Given the description of an element on the screen output the (x, y) to click on. 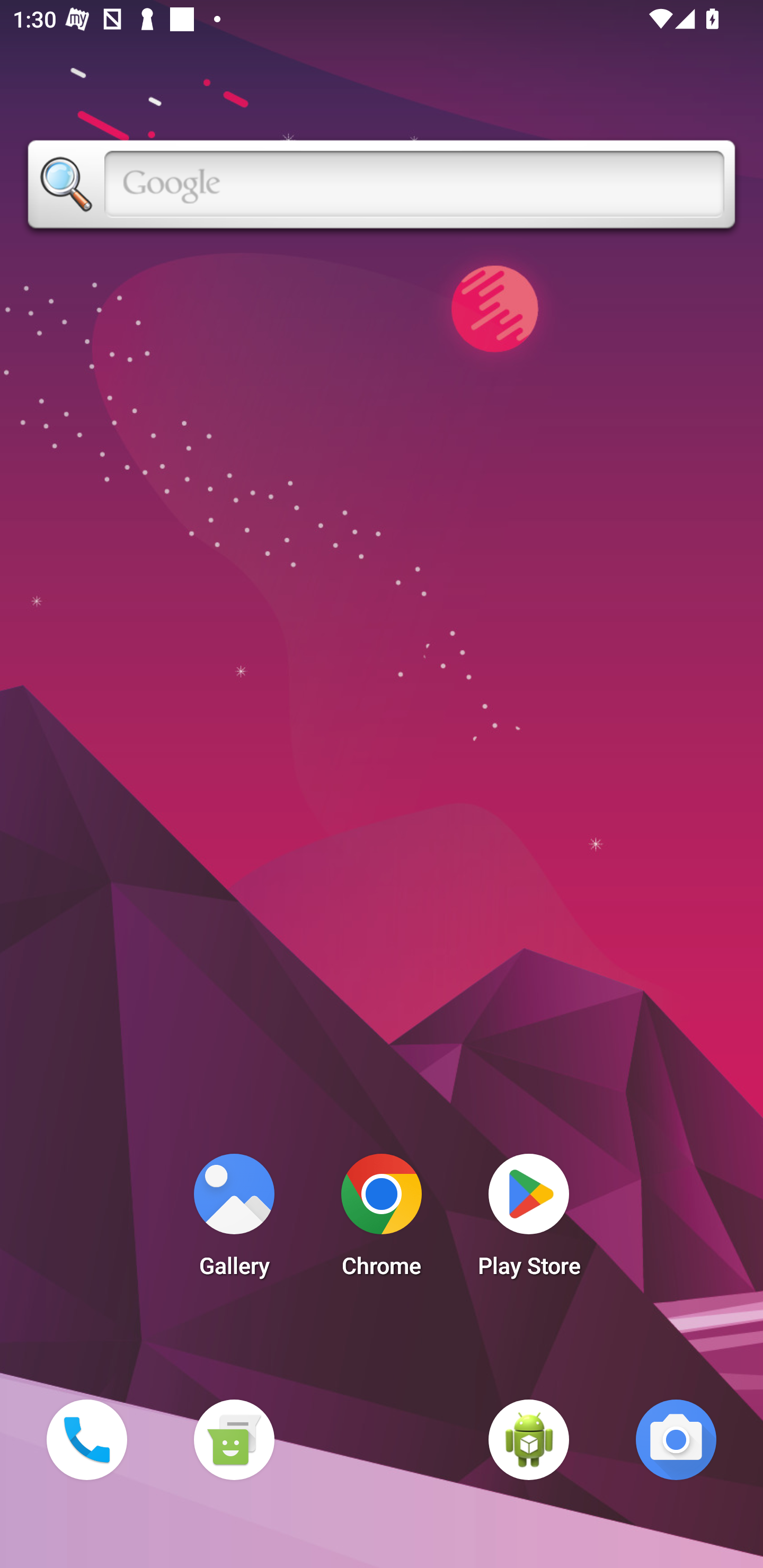
Gallery (233, 1220)
Chrome (381, 1220)
Play Store (528, 1220)
Phone (86, 1439)
Messaging (233, 1439)
WebView Browser Tester (528, 1439)
Camera (676, 1439)
